Given the description of an element on the screen output the (x, y) to click on. 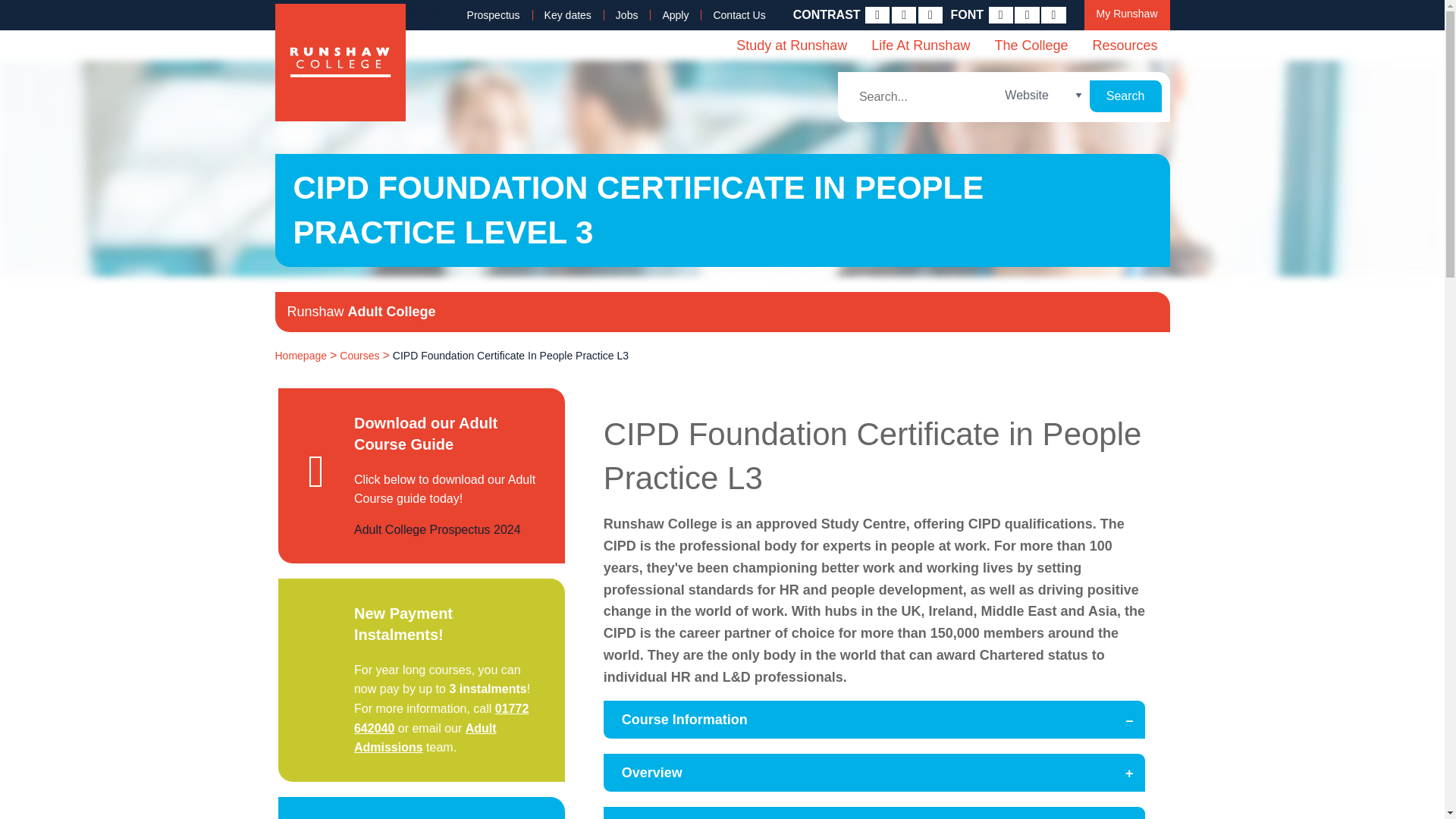
My Runshaw (1127, 15)
Set smaller font size (1000, 14)
Apply (674, 15)
CIPD Foundation Certificate in People Practice L3 (510, 355)
Set default contrast mode (876, 14)
Life At Runshaw (920, 45)
Key dates (568, 15)
Jump to content (403, 20)
Jobs (627, 15)
Prospectus (493, 15)
